Given the description of an element on the screen output the (x, y) to click on. 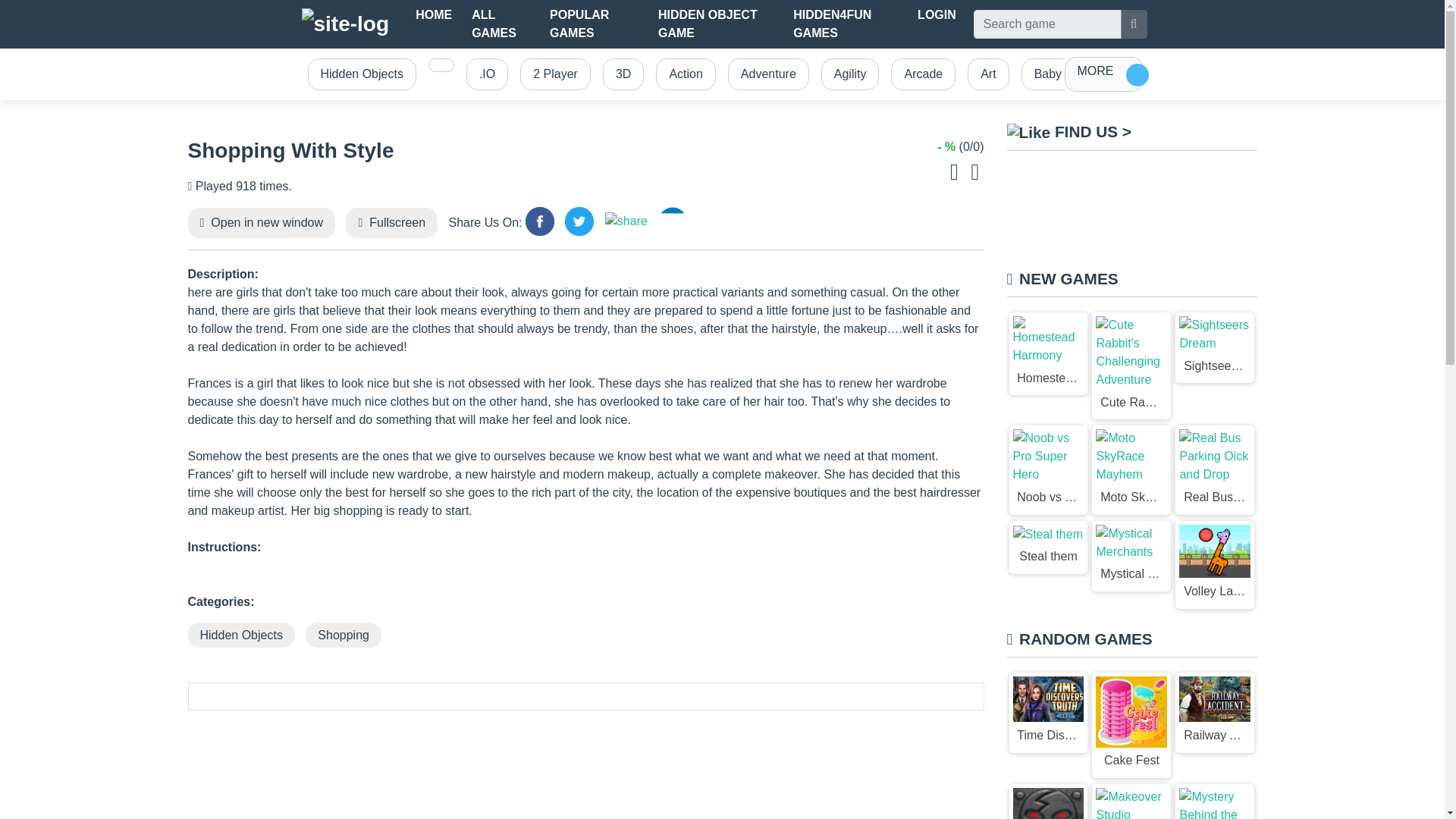
Action (684, 74)
Adventure (768, 74)
POPULAR GAMES (594, 24)
Hidden Objects (361, 74)
HIDDEN4FUN GAMES (845, 24)
.IO (486, 74)
Art (987, 74)
ALL GAMES (500, 24)
LOGIN (936, 15)
Baby (1047, 74)
